Given the description of an element on the screen output the (x, y) to click on. 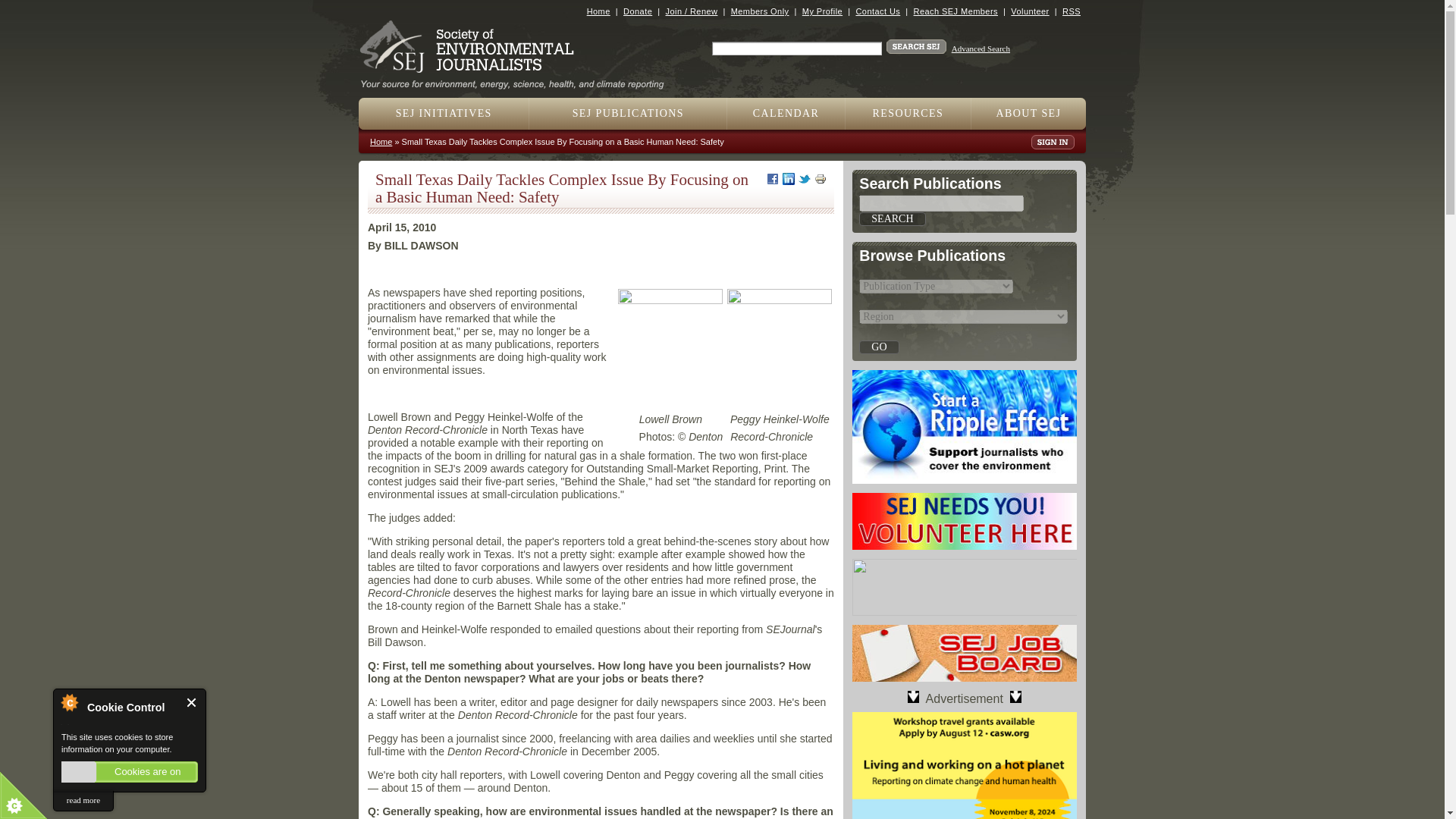
Volunteer (1029, 10)
read more (82, 801)
Cookies are on (129, 772)
SEJ PUBLICATIONS (627, 113)
Close (191, 702)
Advanced Search (981, 48)
Reach SEJ Members (955, 10)
Go (878, 346)
Contact Us (877, 10)
My Profile (822, 10)
